Given the description of an element on the screen output the (x, y) to click on. 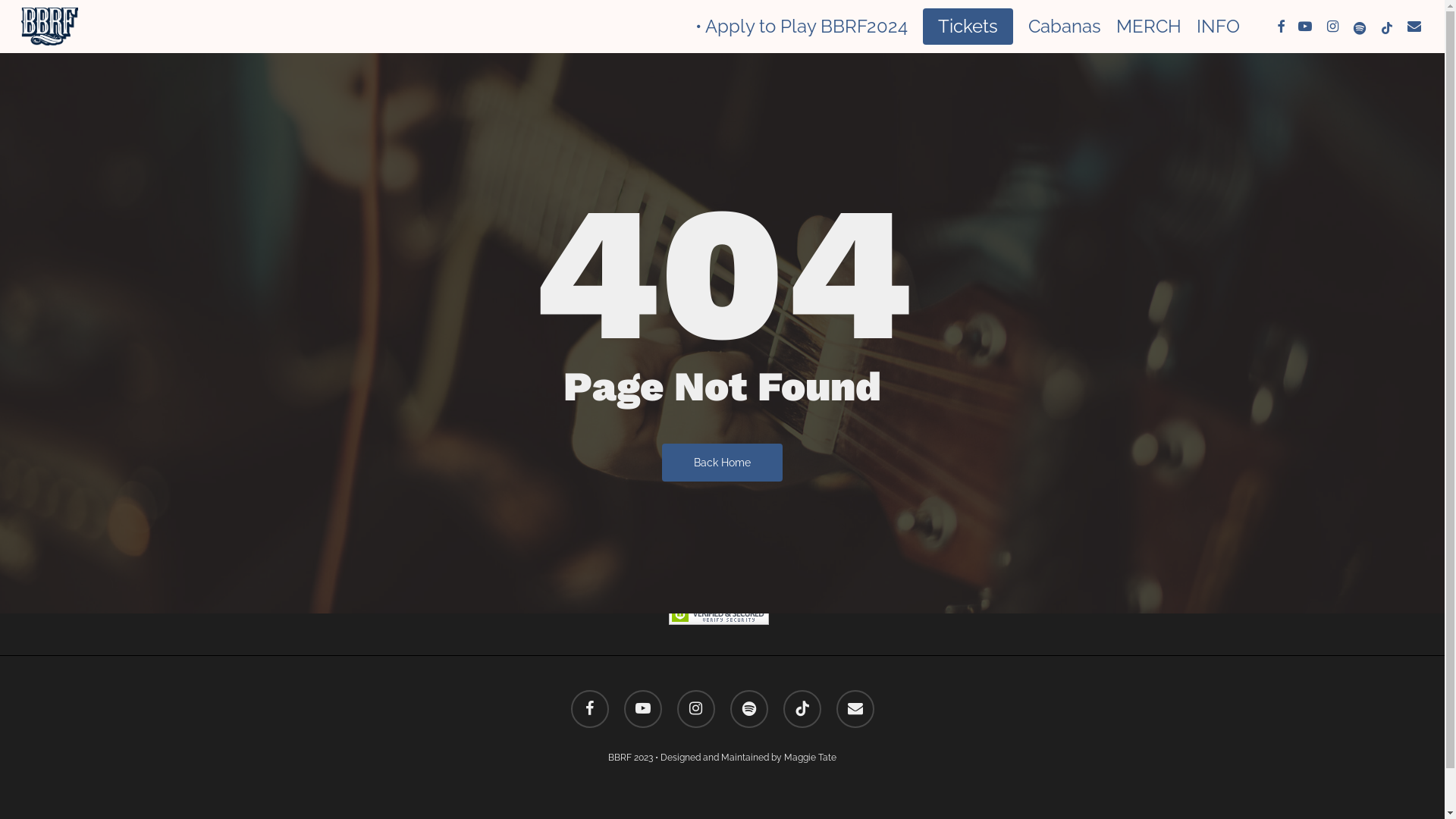
tiktok Element type: text (801, 709)
facebook Element type: text (1280, 26)
Back Home Element type: text (722, 461)
MERCH Element type: text (1148, 26)
email Element type: text (854, 709)
tiktok Element type: text (1386, 26)
instagram Element type: text (695, 709)
facebook Element type: text (589, 709)
youtube Element type: text (642, 709)
instagram Element type: text (1332, 26)
spotify Element type: text (748, 709)
youtube Element type: text (1304, 26)
Cabanas Element type: text (1064, 26)
spotify Element type: text (1359, 26)
Tickets Element type: text (967, 26)
email Element type: text (1413, 26)
INFO Element type: text (1217, 26)
